Given the description of an element on the screen output the (x, y) to click on. 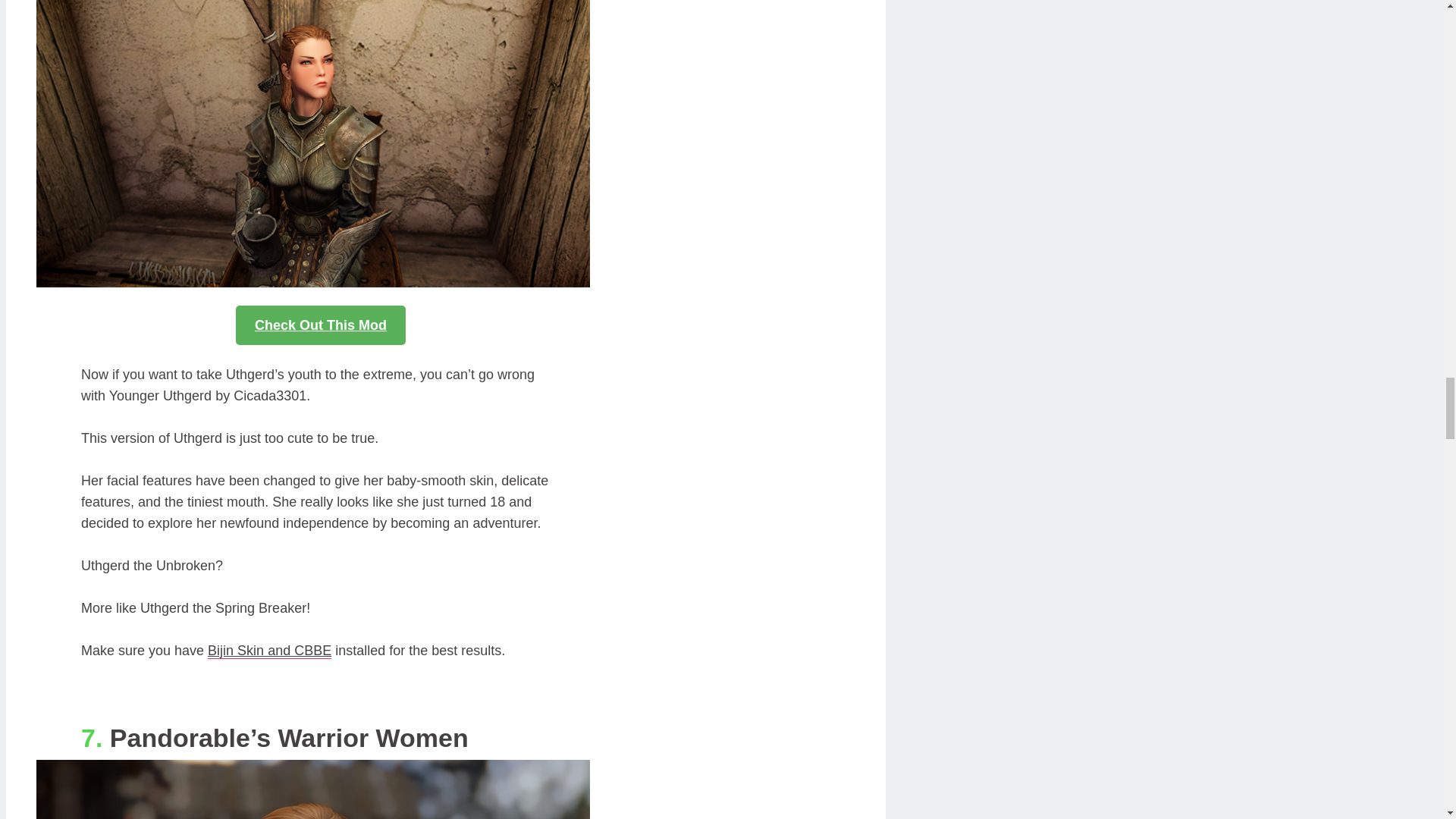
Check Out This Mod (320, 324)
